Given the description of an element on the screen output the (x, y) to click on. 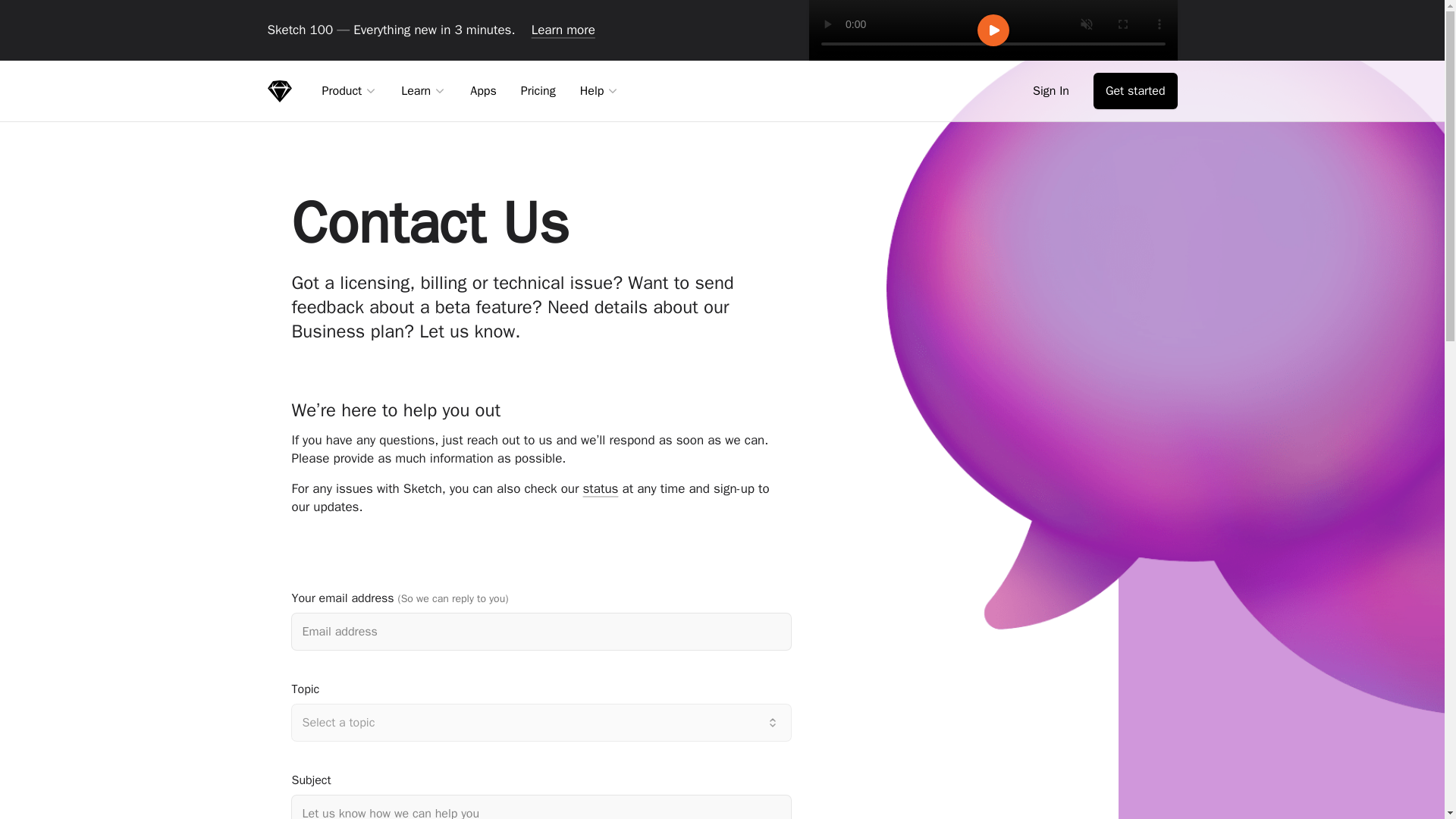
Sign In (1053, 90)
Pricing (537, 90)
Learn more (563, 29)
Apps (483, 90)
Get started (1135, 90)
